Given the description of an element on the screen output the (x, y) to click on. 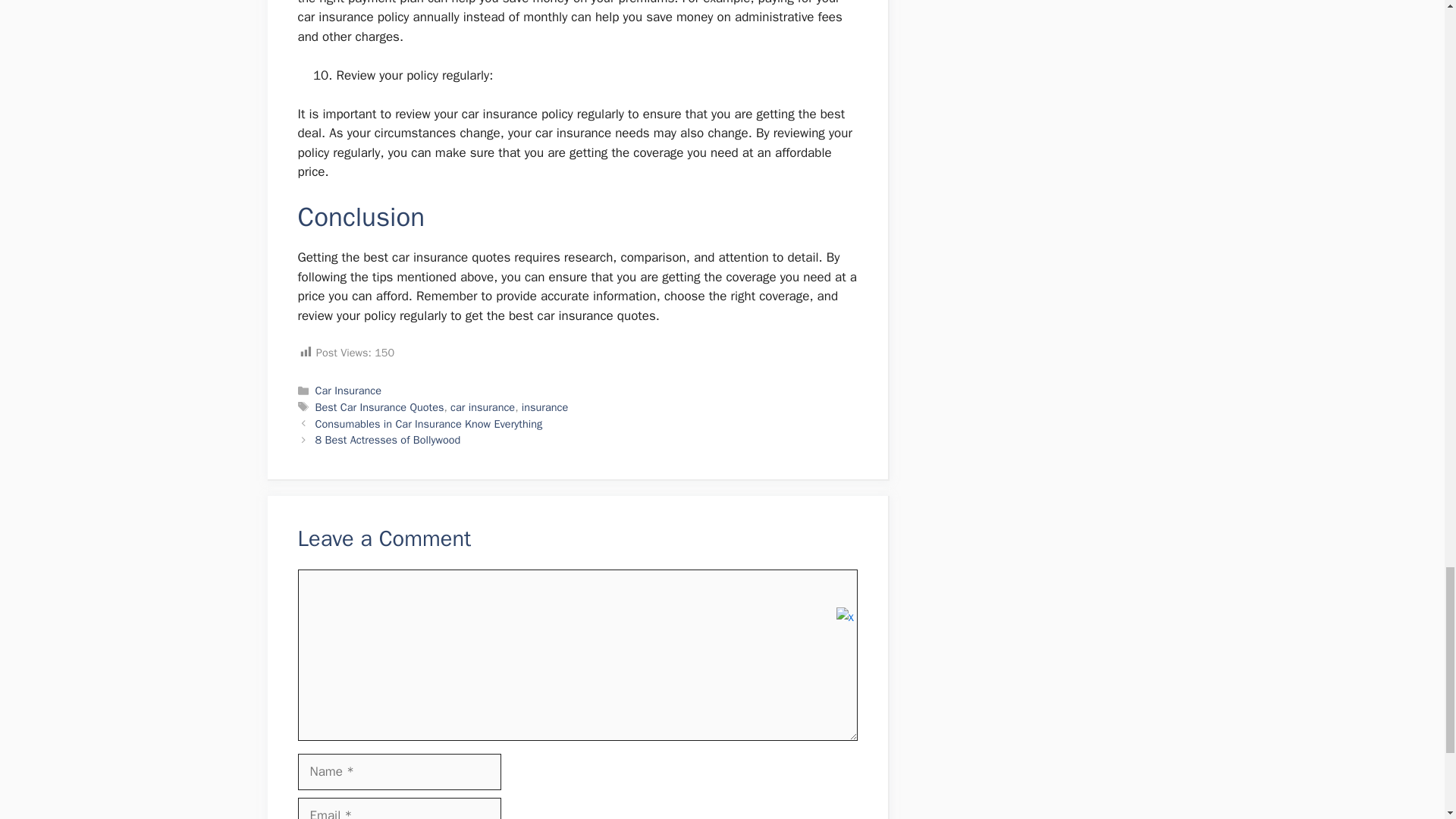
Car Insurance (348, 390)
8 Best Actresses of Bollywood (388, 439)
Best Car Insurance Quotes (379, 407)
insurance (544, 407)
Consumables in Car Insurance Know Everything (429, 423)
car insurance (482, 407)
